Given the description of an element on the screen output the (x, y) to click on. 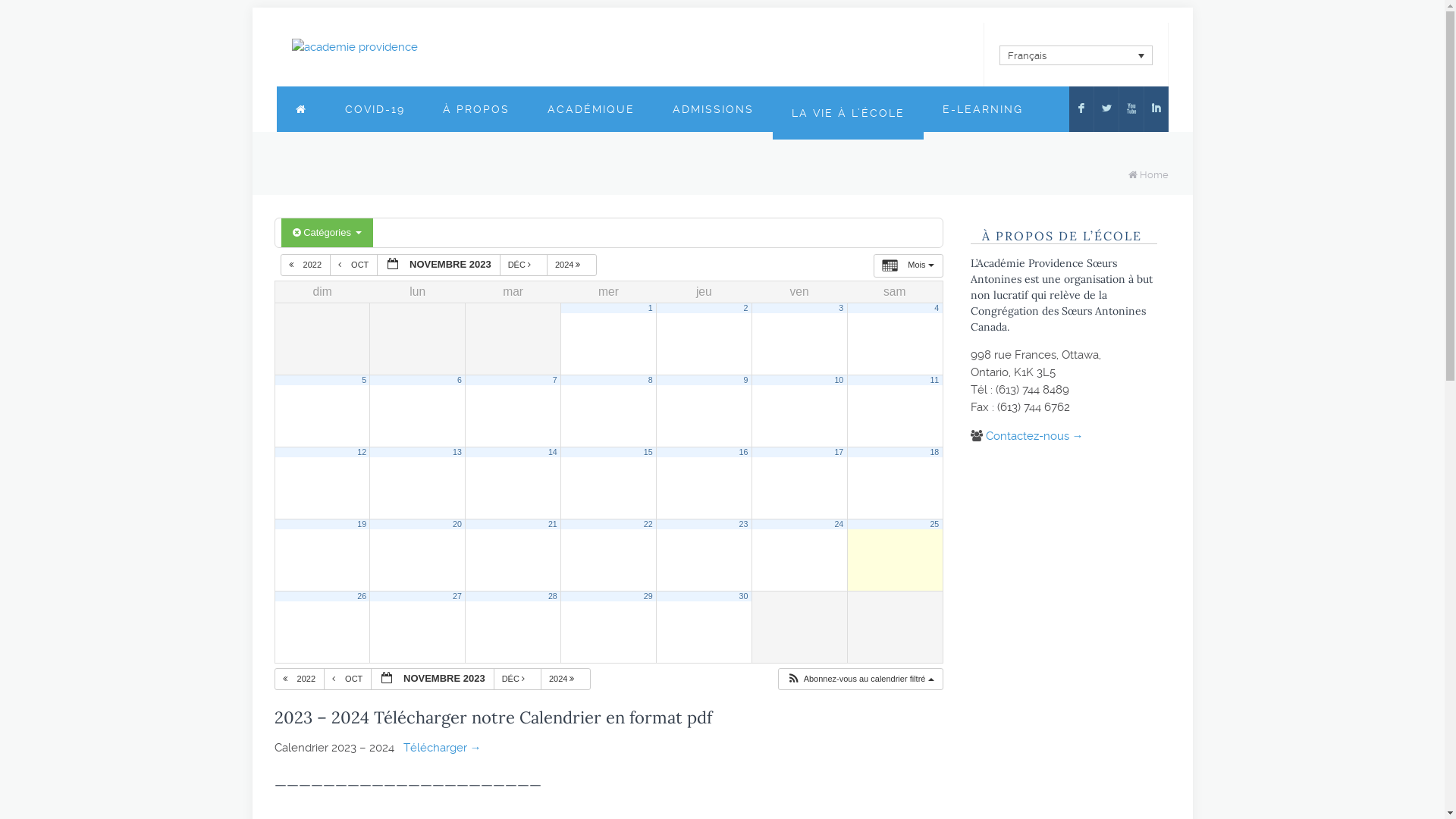
27 Element type: text (456, 595)
21 Element type: text (552, 523)
2024 Element type: text (571, 265)
X Element type: text (1131, 108)
9 Element type: text (745, 379)
12 Element type: text (361, 451)
Home Element type: text (1153, 174)
19 Element type: text (361, 523)
2024 Element type: text (565, 679)
4 Element type: text (936, 307)
2022 Element type: text (299, 679)
E-LEARNING Element type: text (982, 108)
8 Element type: text (650, 379)
23 Element type: text (743, 523)
11 Element type: text (933, 379)
20 Element type: text (456, 523)
3 Element type: text (840, 307)
28 Element type: text (552, 595)
5 Element type: text (363, 379)
26 Element type: text (361, 595)
academie providence Element type: hover (354, 46)
F Element type: text (1081, 108)
NOVEMBRE 2023 Element type: text (432, 679)
Mois Element type: text (907, 265)
ADMISSIONS Element type: text (712, 108)
13 Element type: text (456, 451)
6 Element type: text (459, 379)
10 Element type: text (838, 379)
18 Element type: text (933, 451)
2 Element type: text (745, 307)
2022 Element type: text (305, 265)
14 Element type: text (552, 451)
16 Element type: text (743, 451)
I Element type: text (1155, 108)
OCT Element type: text (353, 265)
24 Element type: text (838, 523)
22 Element type: text (647, 523)
7 Element type: text (554, 379)
COVID-19 Element type: text (374, 108)
L Element type: text (1105, 108)
15 Element type: text (647, 451)
30 Element type: text (743, 595)
17 Element type: text (838, 451)
1 Element type: text (650, 307)
25 Element type: text (933, 523)
NOVEMBRE 2023 Element type: text (438, 265)
29 Element type: text (647, 595)
OCT Element type: text (347, 679)
